Given the description of an element on the screen output the (x, y) to click on. 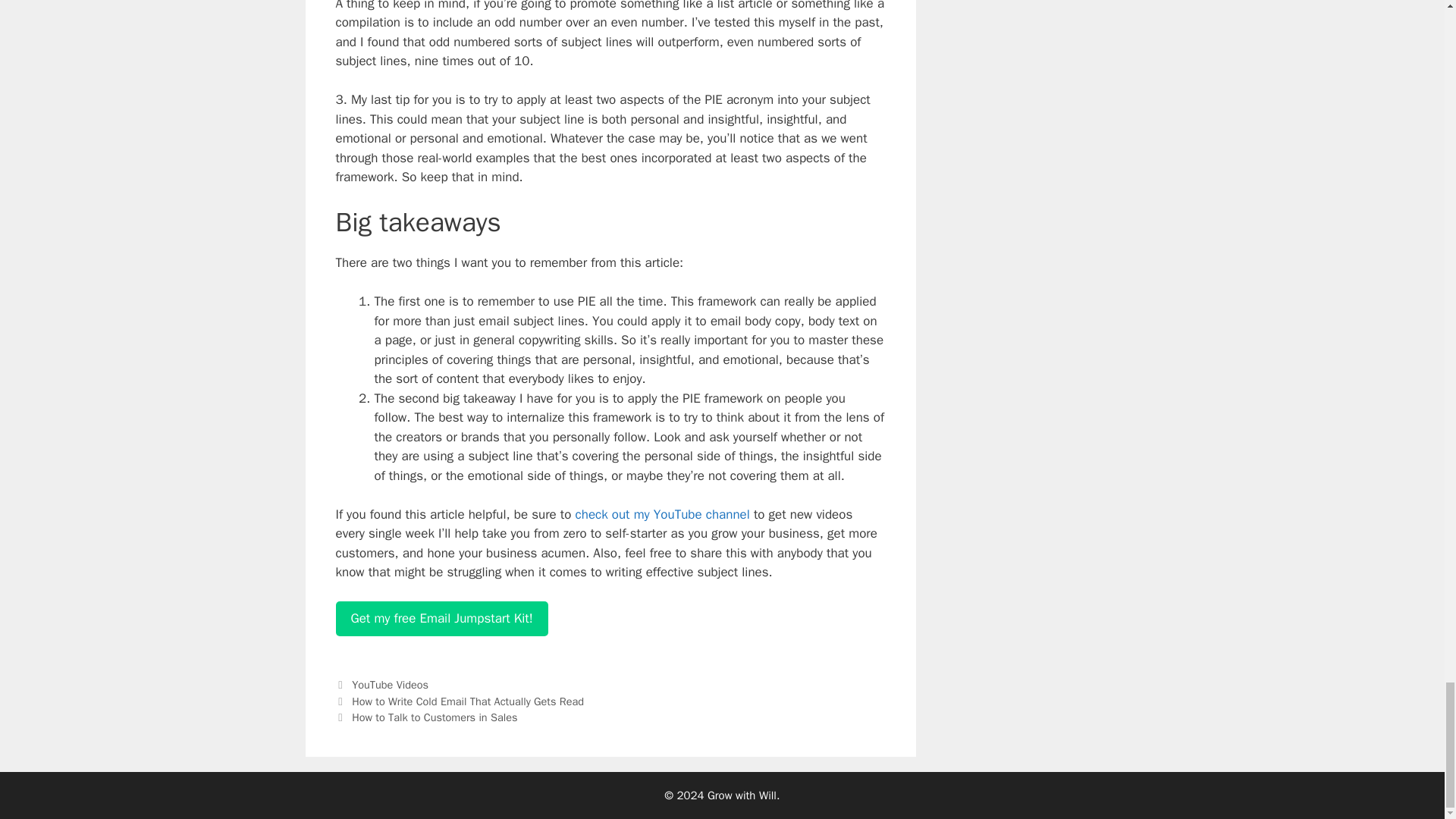
How to Talk to Customers in Sales (434, 716)
check out my YouTube channel (662, 514)
How to Write Cold Email That Actually Gets Read (467, 701)
YouTube Videos (390, 684)
Get my free Email Jumpstart Kit! (440, 618)
